Given the description of an element on the screen output the (x, y) to click on. 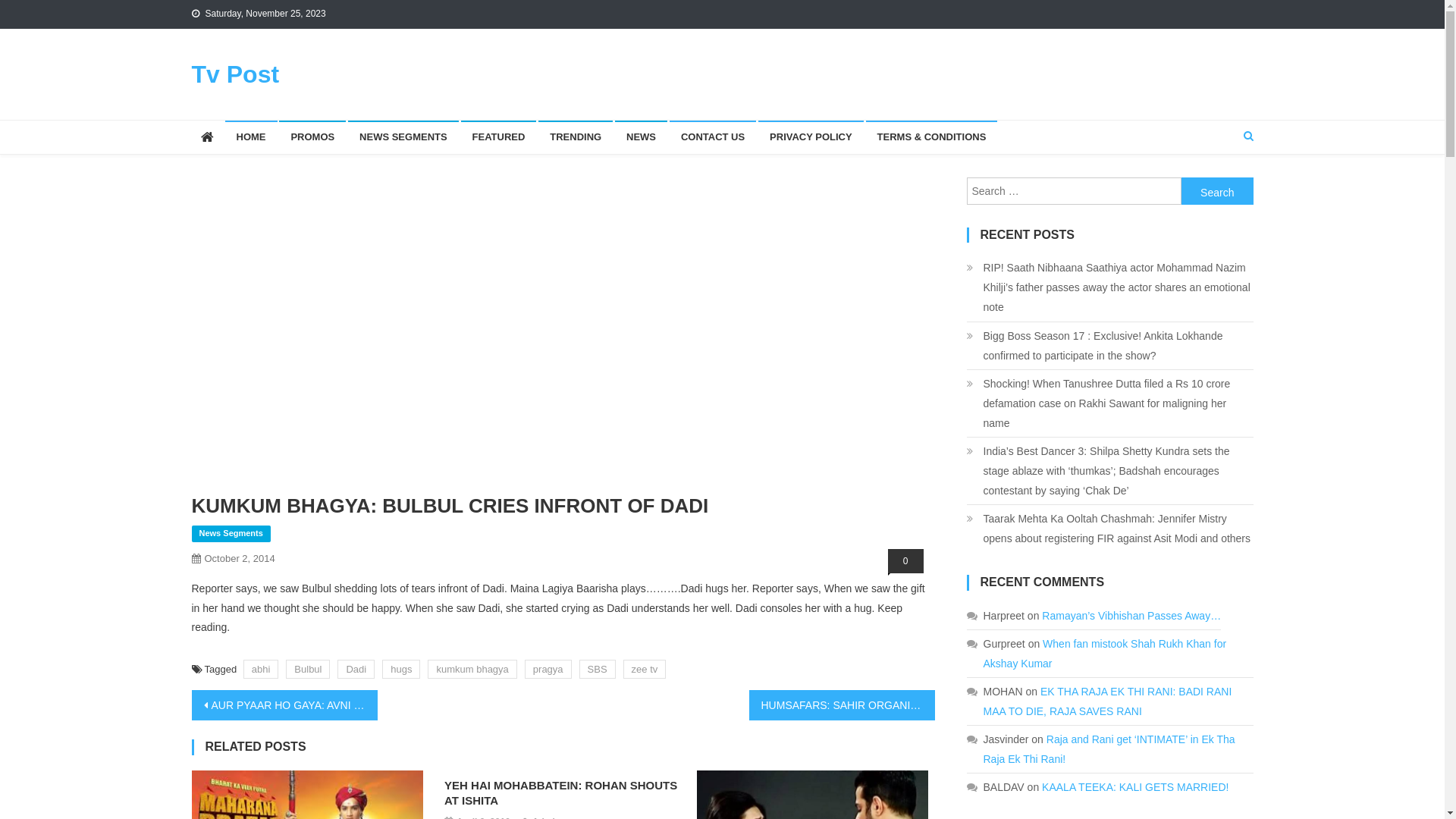
kumkum bhagya Element type: text (471, 668)
HUMSAFARS: SAHIR ORGANIZES A FASHION SHOW Element type: text (842, 705)
zee tv Element type: text (644, 668)
Search Element type: text (1221, 186)
News Segments Element type: text (230, 533)
0 Element type: text (905, 561)
FEATURED Element type: text (498, 136)
When fan mistook Shah Rukh Khan for Akshay Kumar Element type: text (1104, 653)
YEH HAI MOHABBATEIN: ROHAN SHOUTS AT ISHITA Element type: text (562, 793)
pragya Element type: text (547, 668)
PRIVACY POLICY Element type: text (810, 136)
HOME Element type: text (250, 136)
PROMOS Element type: text (312, 136)
TRENDING Element type: text (575, 136)
October 2, 2014 Element type: text (239, 558)
hugs Element type: text (401, 668)
Dadi Element type: text (355, 668)
Tv Post Element type: text (235, 73)
Search Element type: text (1217, 190)
TERMS & CONDITIONS Element type: text (931, 136)
NEWS SEGMENTS Element type: text (403, 136)
CONTACT US Element type: text (712, 136)
Bulbul Element type: text (307, 668)
KAALA TEEKA: KALI GETS MARRIED! Element type: text (1134, 787)
abhi Element type: text (261, 668)
SBS Element type: text (597, 668)
NEWS Element type: text (641, 136)
